Given the description of an element on the screen output the (x, y) to click on. 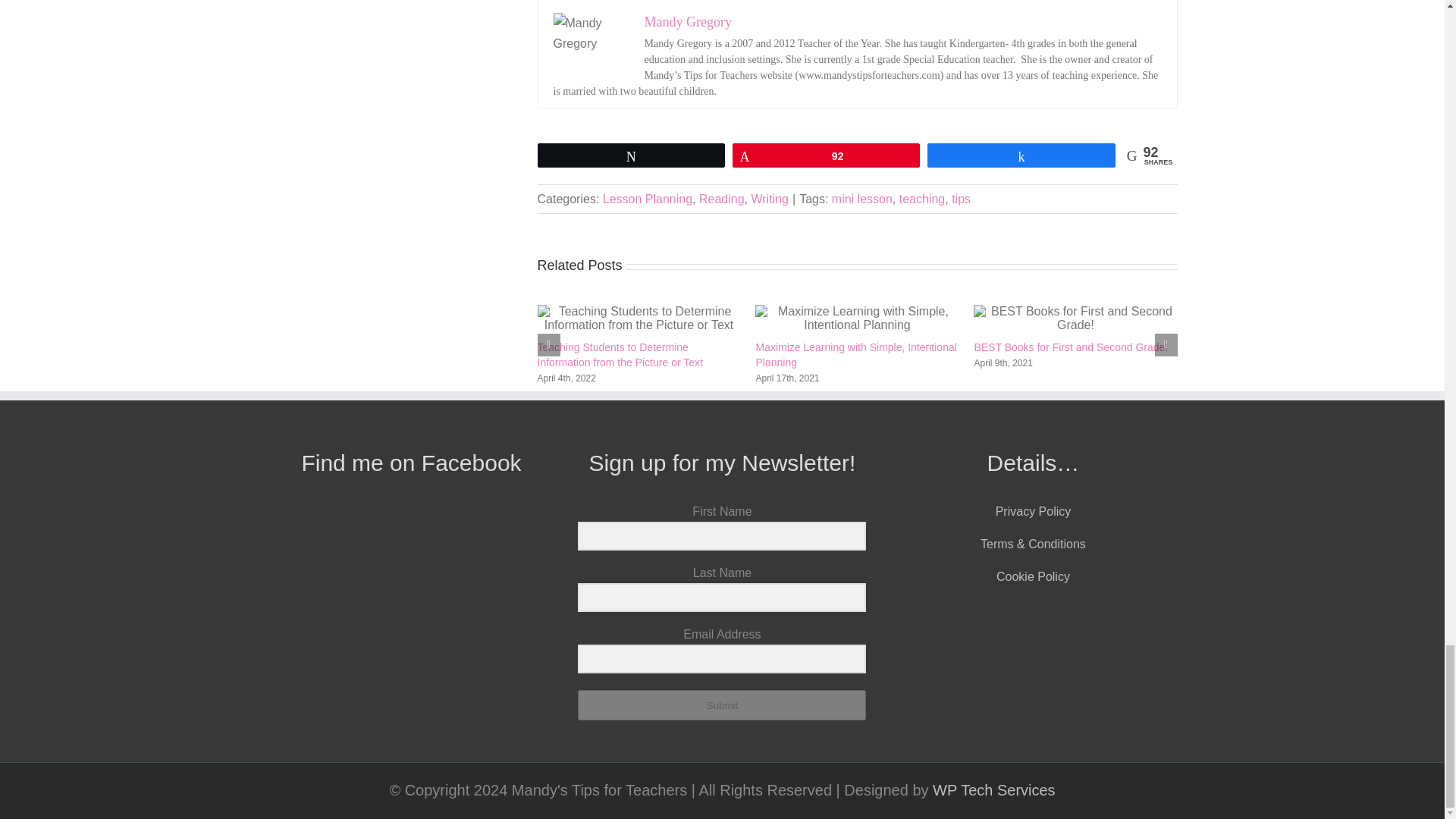
Maximize Learning with Simple, Intentional Planning (855, 354)
BEST Books for First and Second Grade! (1070, 346)
